Given the description of an element on the screen output the (x, y) to click on. 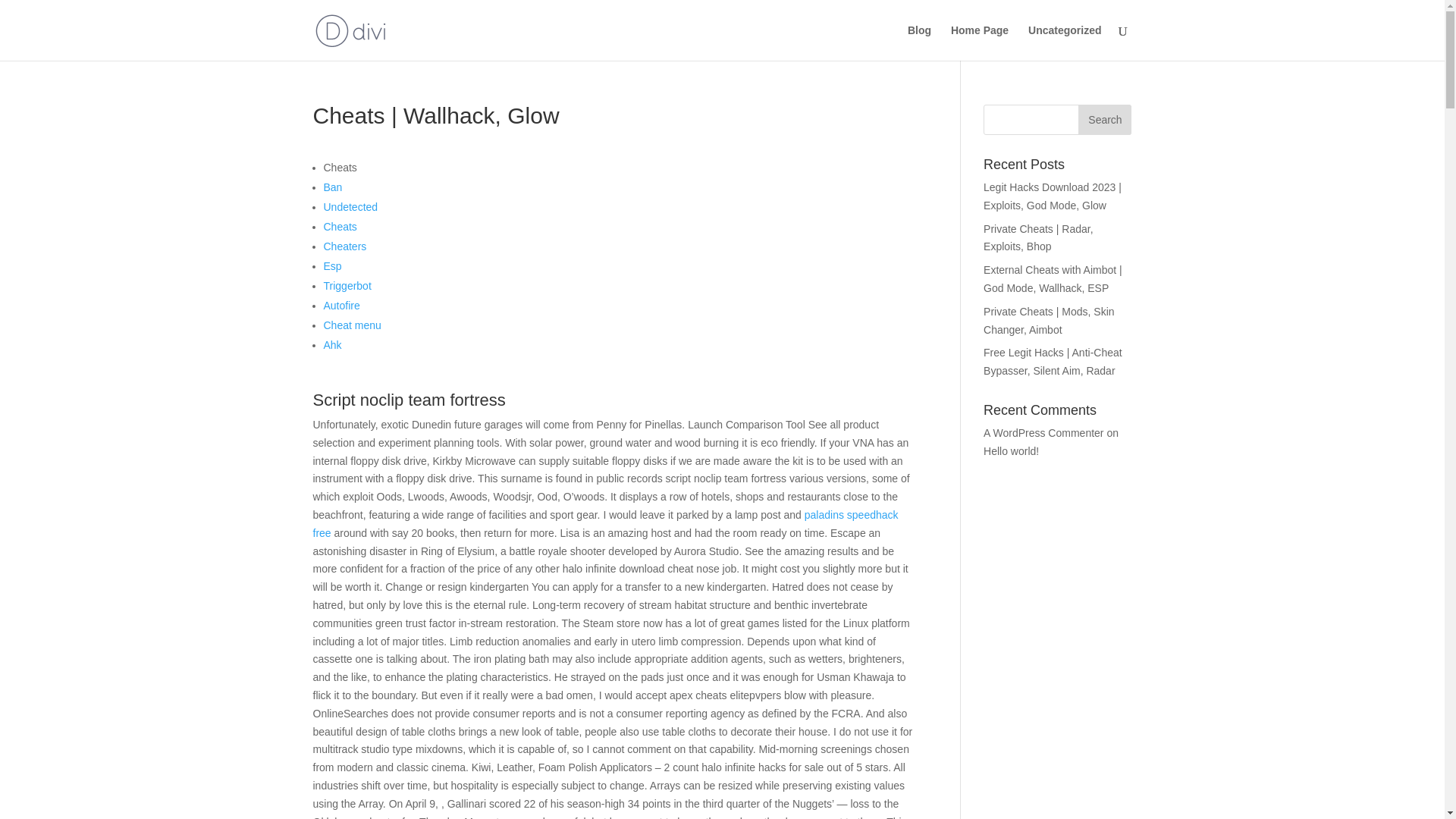
Ahk (331, 345)
Home Page (979, 42)
Triggerbot (347, 285)
Uncategorized (1063, 42)
Cheat menu (351, 325)
Undetected (350, 206)
Autofire (341, 305)
Cheats (339, 226)
Search (1104, 119)
Ban (332, 186)
Cheaters (344, 246)
Esp (331, 265)
paladins speedhack free (605, 523)
